Given the description of an element on the screen output the (x, y) to click on. 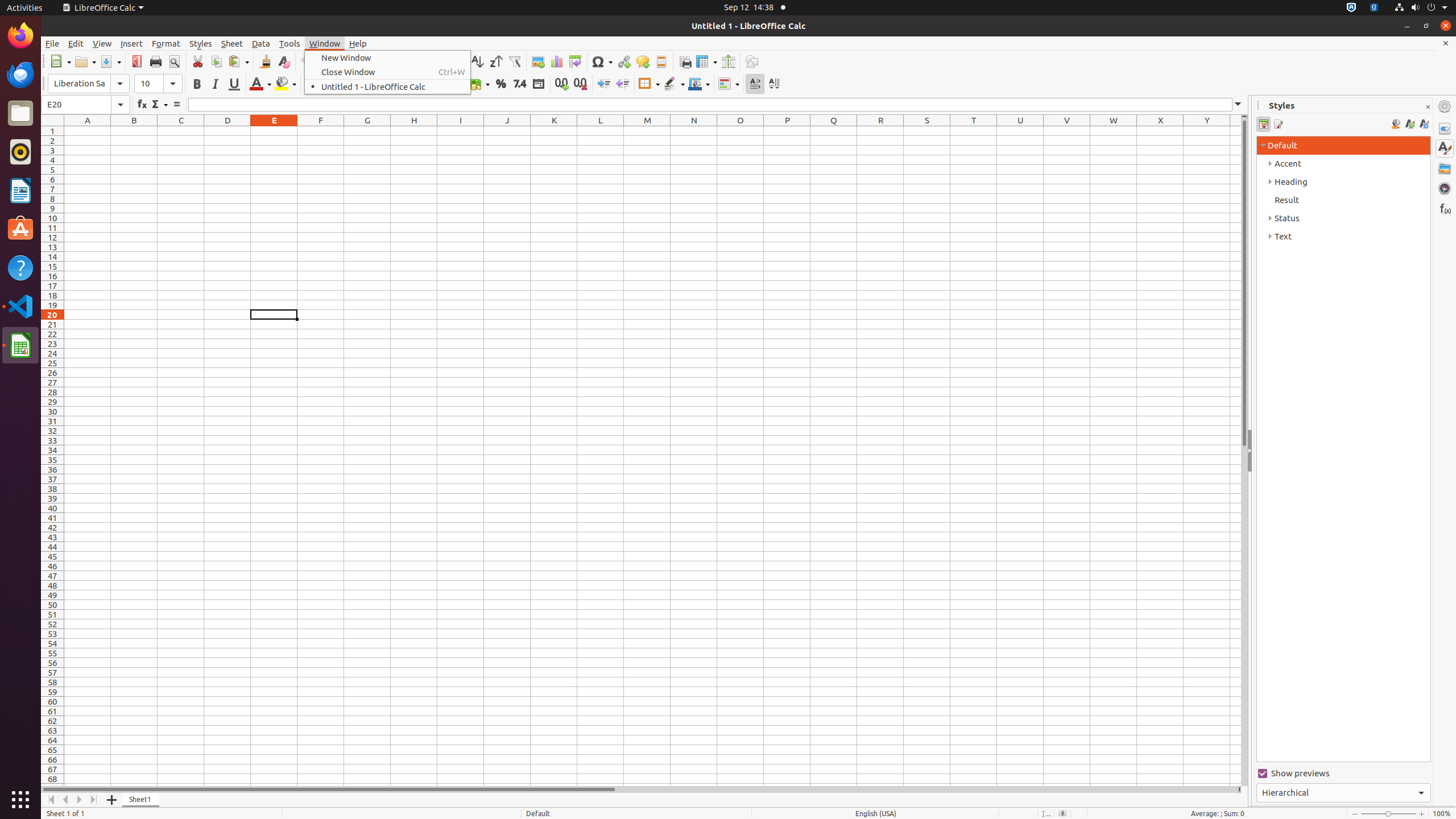
Underline Element type: push-button (233, 83)
R1 Element type: table-cell (880, 130)
Fill Format Mode Element type: push-button (1395, 123)
Show previews Element type: check-box (1343, 773)
G1 Element type: table-cell (367, 130)
